Given the description of an element on the screen output the (x, y) to click on. 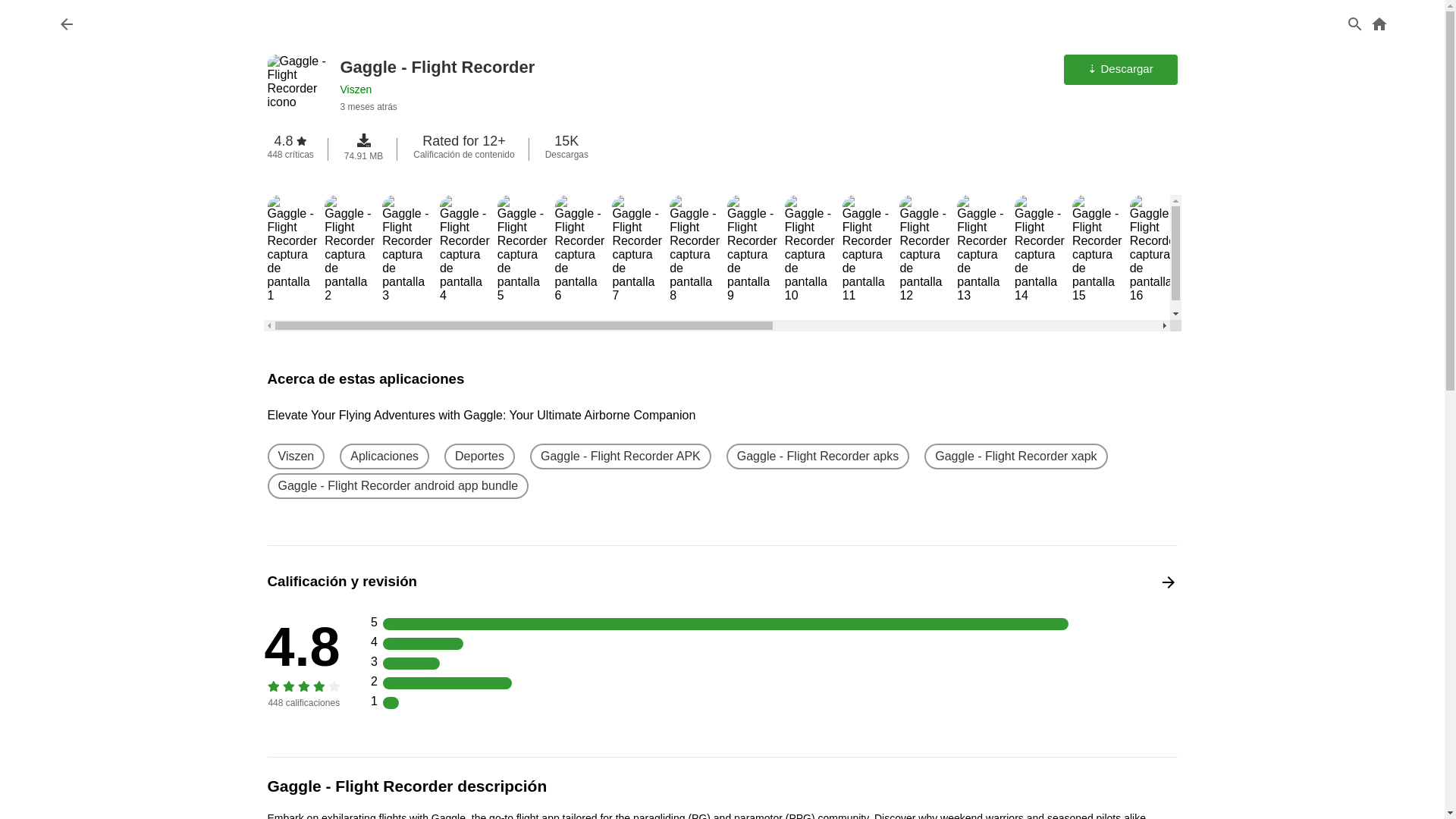
Gaggle - Flight Recorder android app bundle (397, 485)
Gaggle - Flight Recorder xapk (1015, 456)
Aplicaciones APKs (384, 456)
Gaggle - Flight Recorder Android app bundle (397, 485)
Aplicaciones (384, 456)
Viszen desarrollador (295, 456)
Gaggle - Flight Recorder apks (817, 456)
Deportes (479, 456)
Gaggle - Flight Recorder APK (620, 456)
Viszen (295, 456)
